Given the description of an element on the screen output the (x, y) to click on. 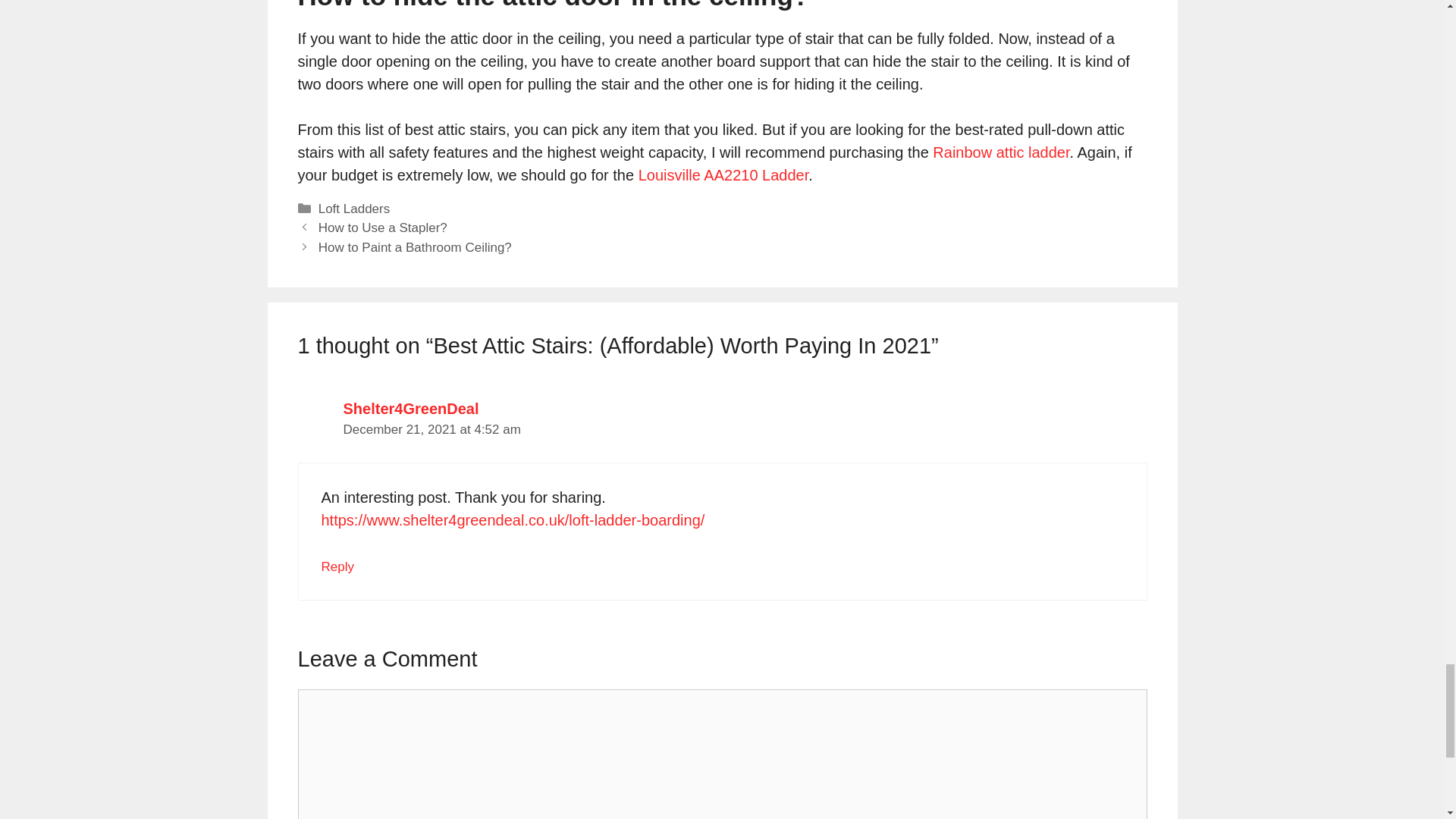
Rainbow attic ladder (1000, 152)
Loft Ladders (354, 208)
Shelter4GreenDeal (410, 408)
Reply (337, 566)
How to Paint a Bathroom Ceiling? (415, 247)
Louisville AA2210 Ladder (724, 175)
December 21, 2021 at 4:52 am (430, 429)
How to Use a Stapler? (382, 227)
